Given the description of an element on the screen output the (x, y) to click on. 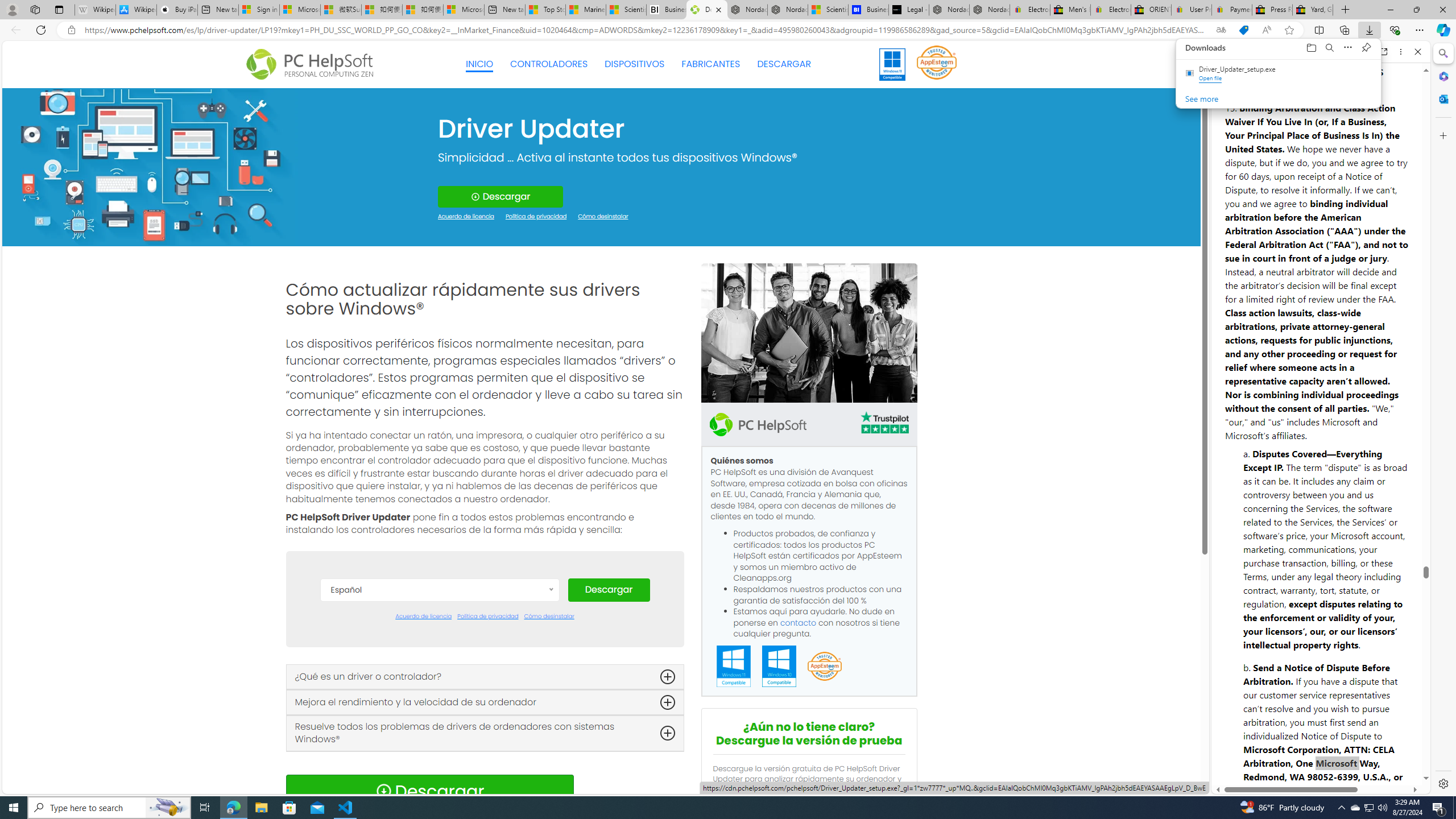
Nederlands (439, 763)
CONTROLADORES (548, 64)
Download Icon Descargar (429, 790)
Open downloads folder (1311, 47)
Windows 10 Compatible (778, 666)
DISPOSITIVOS (634, 64)
contacto (798, 622)
Press Room - eBay Inc. (1272, 9)
